Given the description of an element on the screen output the (x, y) to click on. 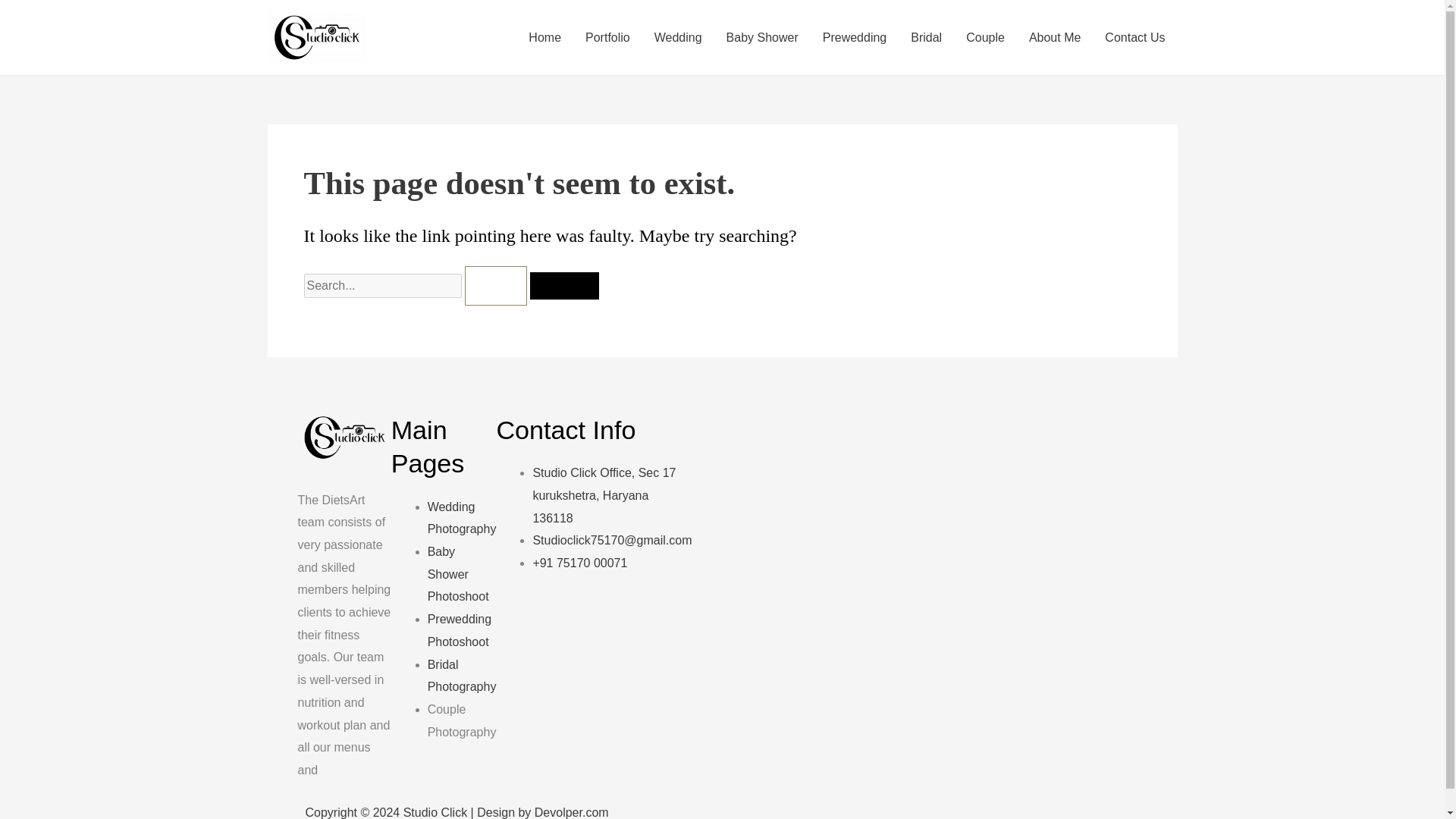
Portfolio (607, 37)
Bridal (925, 37)
Wedding (678, 37)
Bridal Photography (462, 675)
Prewedding (854, 37)
Contact Us (1134, 37)
Search (563, 285)
Home (544, 37)
About Me (1054, 37)
Baby Shower Photoshoot (458, 573)
